Given the description of an element on the screen output the (x, y) to click on. 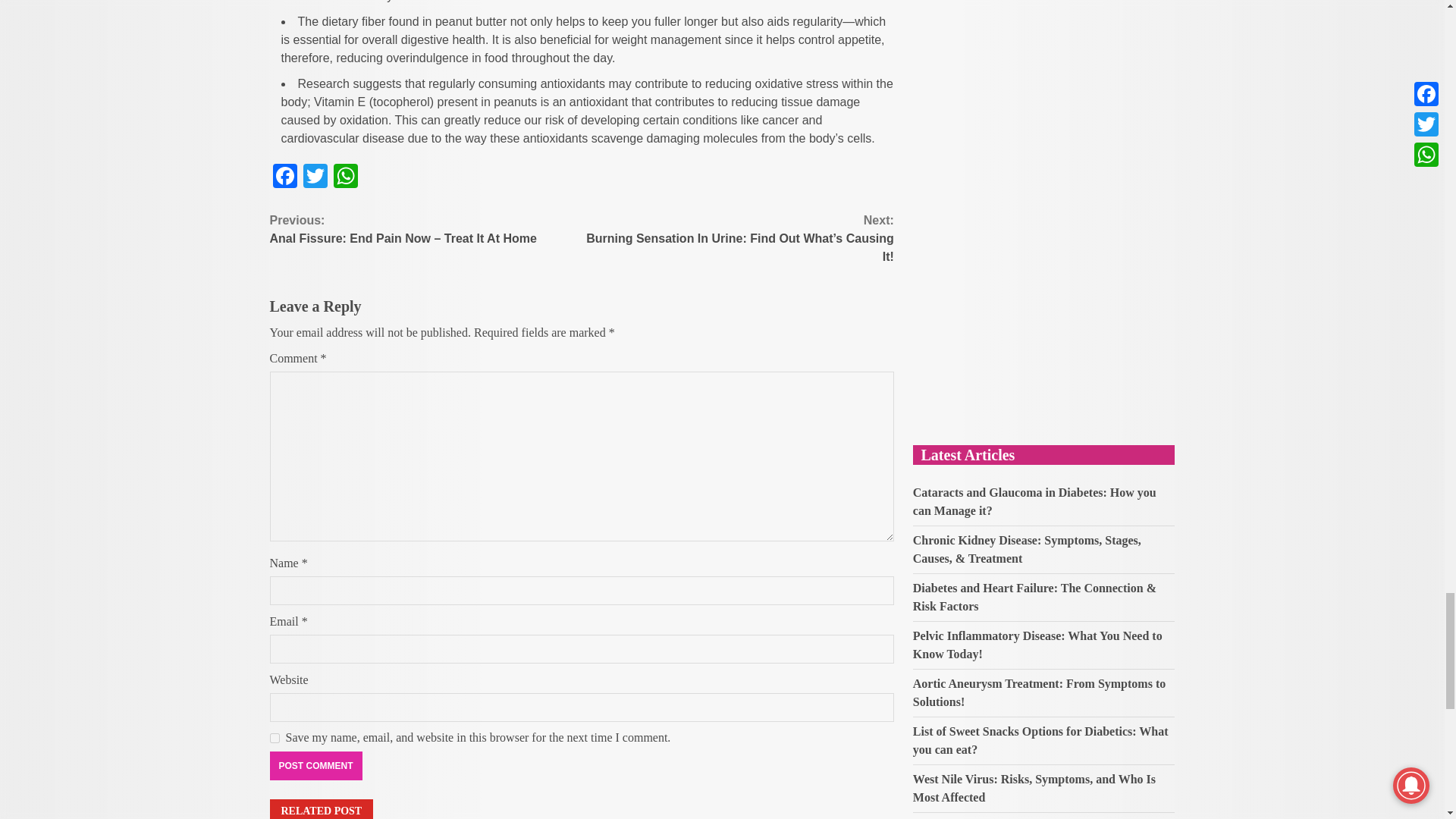
WhatsApp (345, 177)
yes (274, 737)
Facebook (284, 177)
Post Comment (315, 765)
Twitter (314, 177)
